Given the description of an element on the screen output the (x, y) to click on. 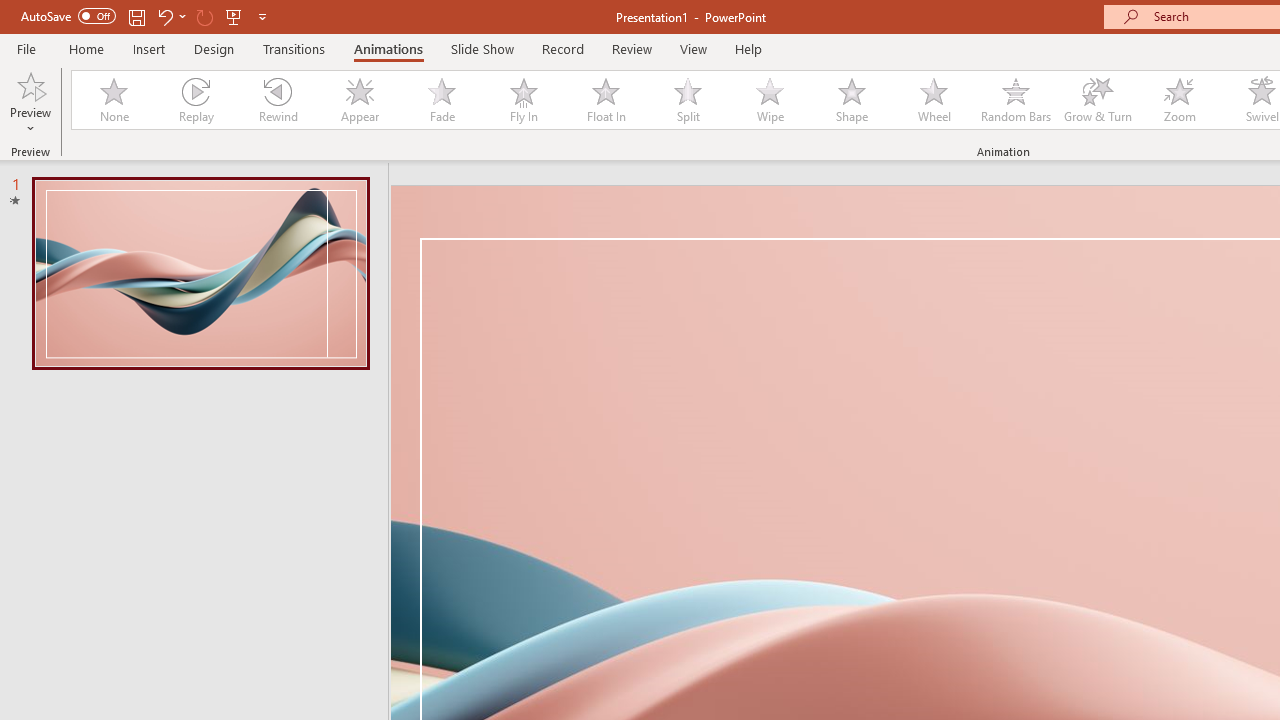
Fade (441, 100)
Wheel (934, 100)
Random Bars (1016, 100)
Grow & Turn (1098, 100)
Shape (852, 100)
